Given the description of an element on the screen output the (x, y) to click on. 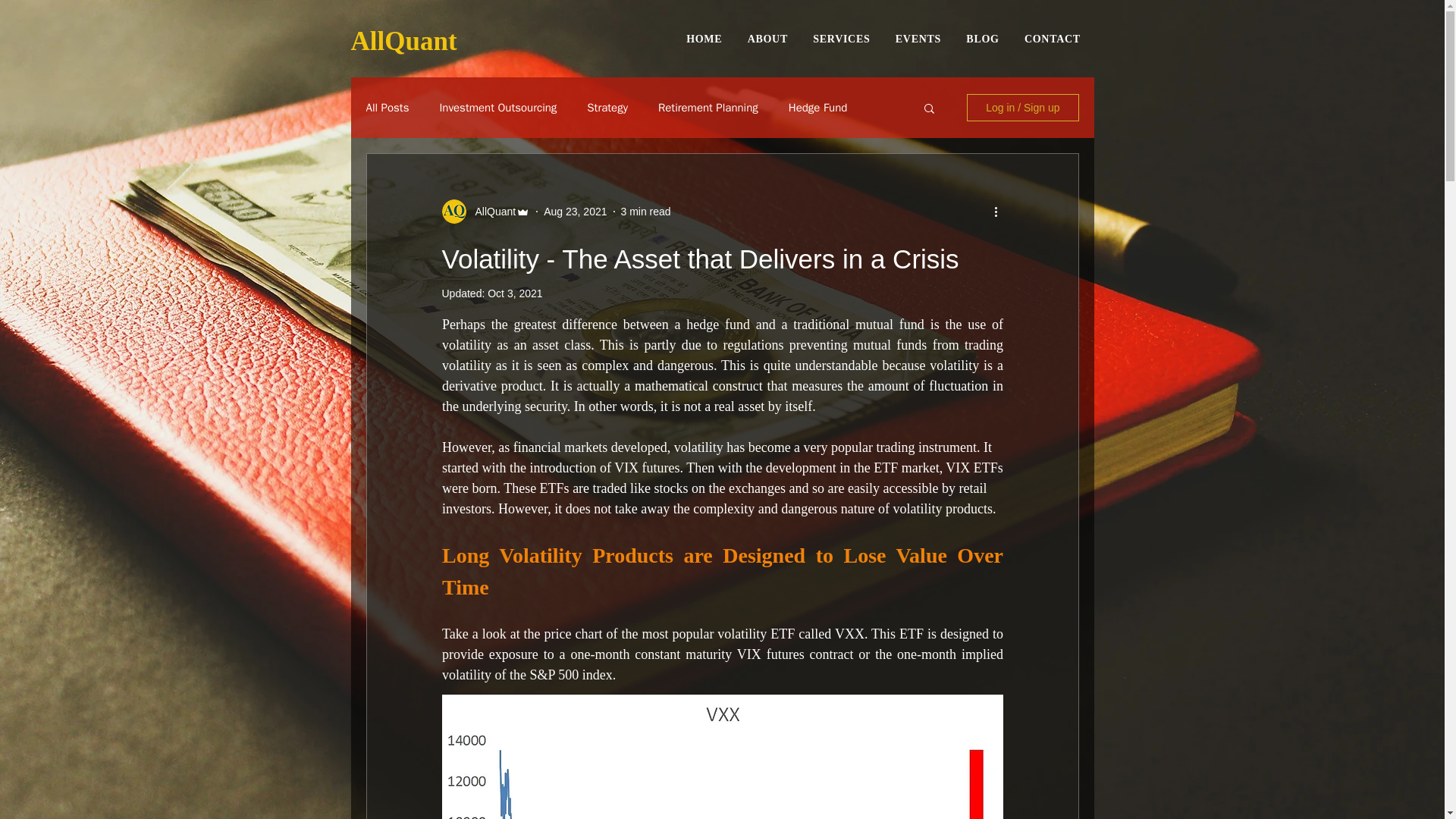
ABOUT (767, 39)
All Posts (387, 106)
Strategy (606, 106)
HOME (882, 39)
AllQuant (703, 39)
Aug 23, 2021 (490, 211)
AllQuant (575, 210)
SERVICES (403, 41)
Investment Outsourcing (841, 39)
EVENTS (497, 106)
Retirement Planning (917, 39)
Oct 3, 2021 (708, 106)
CONTACT (514, 293)
BLOG (1051, 39)
